Given the description of an element on the screen output the (x, y) to click on. 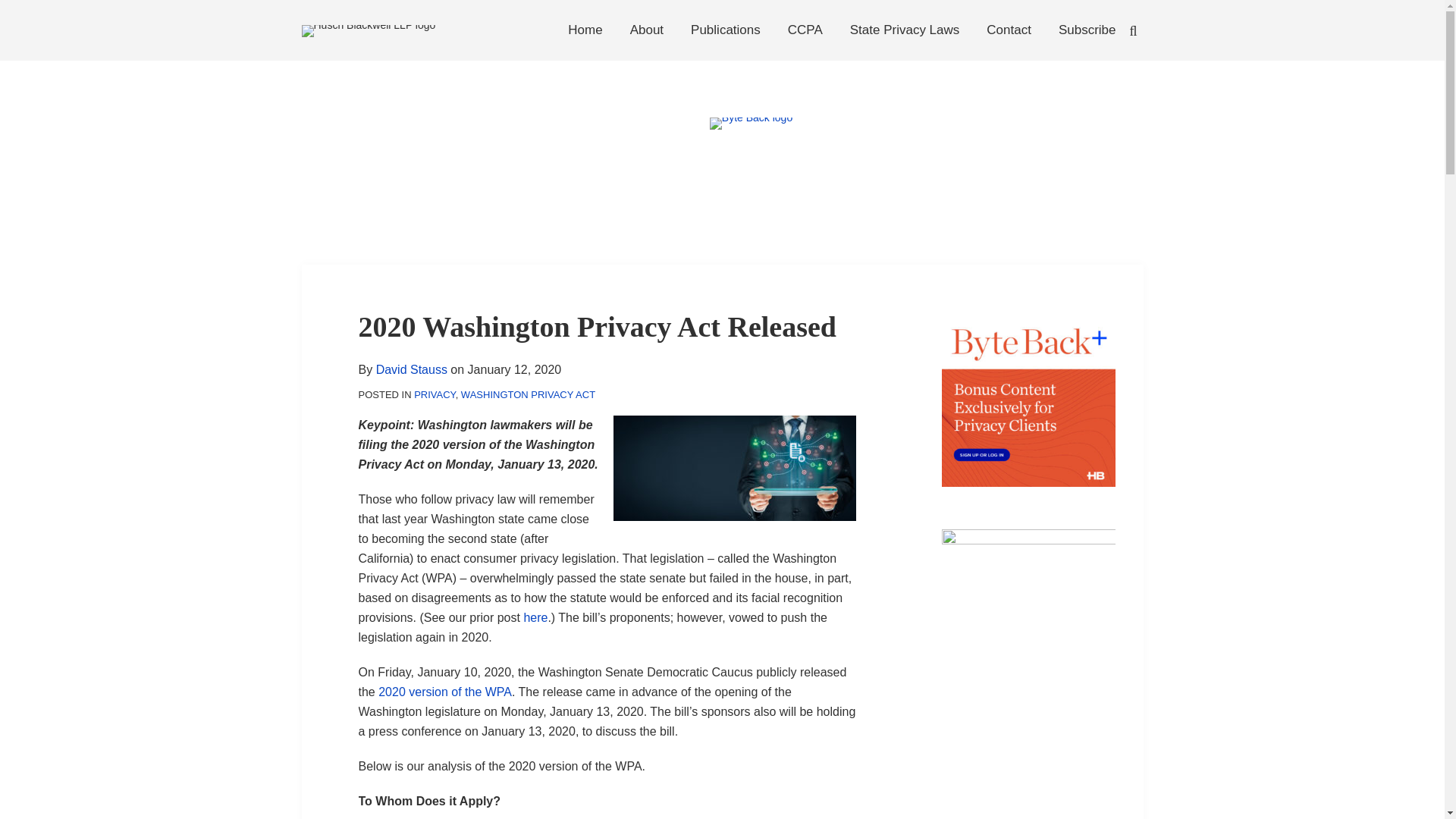
2020 version of the WPA (445, 691)
Subscribe (1087, 30)
here (534, 617)
State Privacy Laws (904, 30)
Contact (1008, 30)
PRIVACY (433, 394)
CCPA (804, 30)
Publications (725, 30)
Byte Back (750, 156)
David Stauss (410, 369)
